Given the description of an element on the screen output the (x, y) to click on. 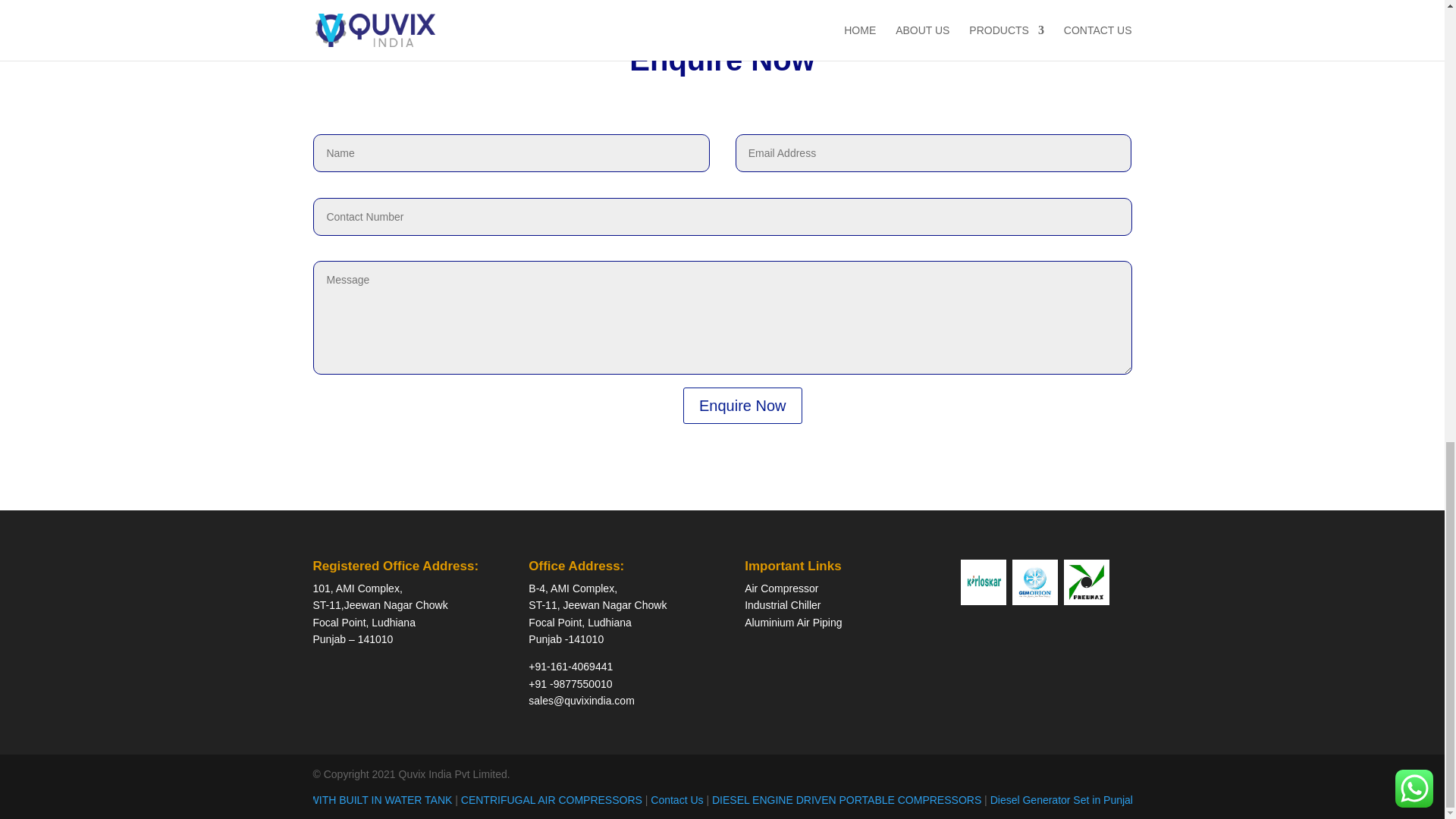
AIR COOLED CHILLERS WITH BUILT IN WATER TANK (689, 799)
Enquire Now (742, 405)
Air Compressors In Jalandhar (478, 799)
Air Compressor (781, 588)
CENTRIFUGAL AIR COMPRESSORS (919, 799)
Industrial Chiller (782, 604)
Aluminium Air Piping (792, 622)
Air Compressor (365, 799)
DIESEL ENGINE DRIVEN PORTABLE COMPRESSORS (1213, 799)
About Us (299, 799)
